Given the description of an element on the screen output the (x, y) to click on. 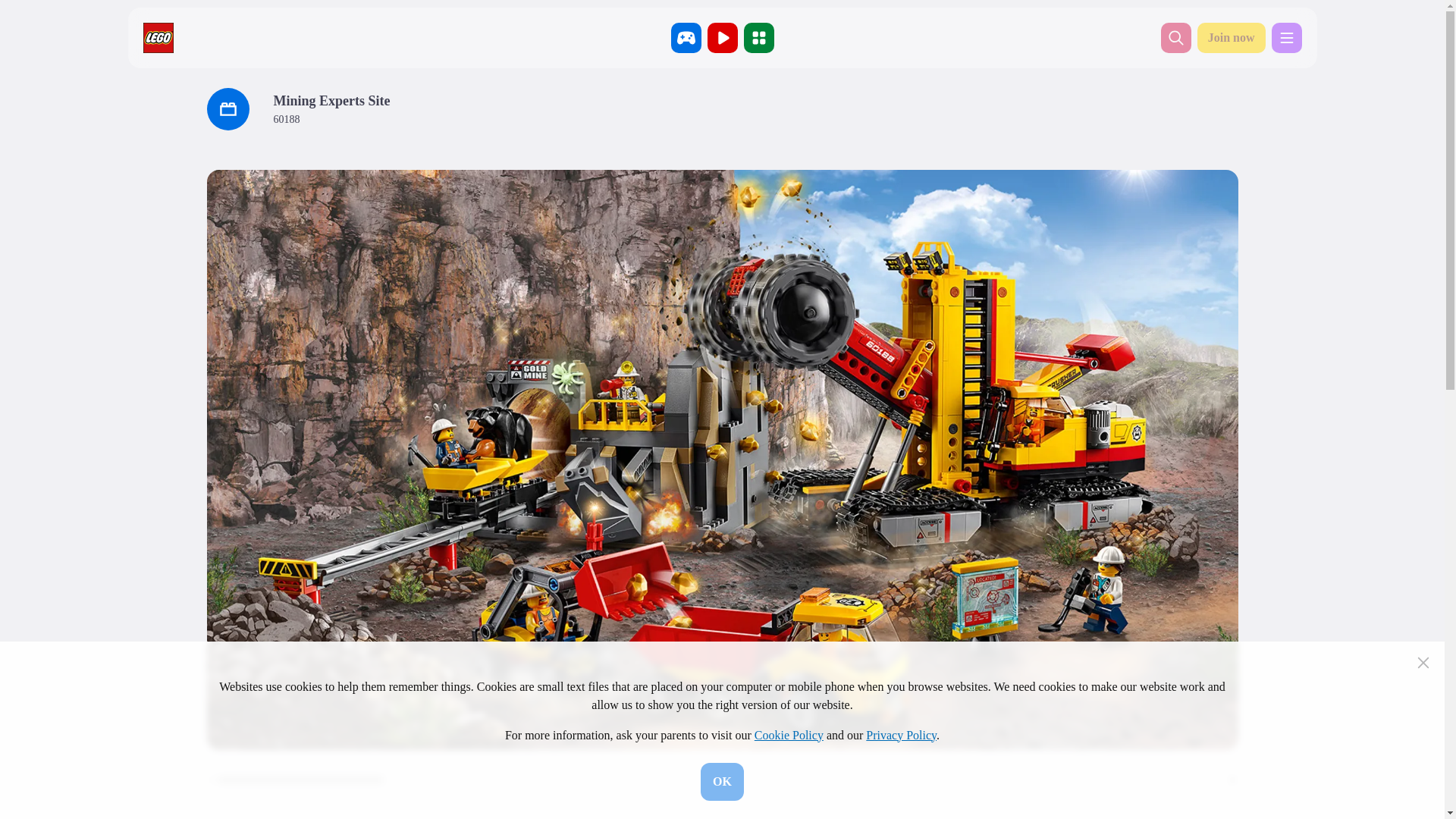
What are you looking for? (1175, 37)
Games (684, 37)
Join now (1230, 37)
Videos (721, 37)
Privacy Policy (901, 735)
Themes (757, 37)
Cookie Policy (789, 735)
OK (722, 781)
